Given the description of an element on the screen output the (x, y) to click on. 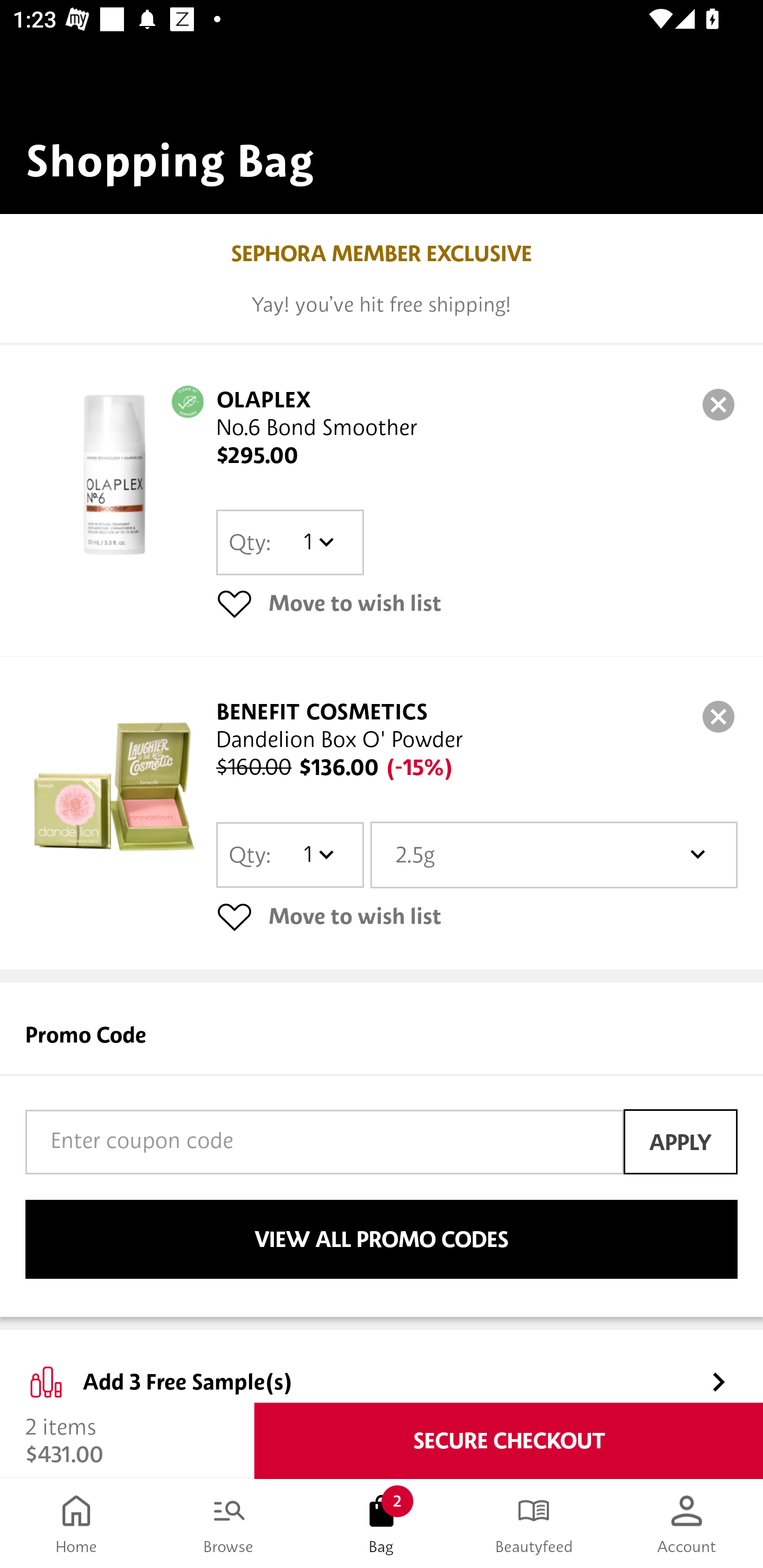
1 (317, 542)
Move to wish list (476, 602)
2.5g (553, 854)
1 (317, 854)
Move to wish list (476, 916)
APPLY (680, 1141)
Enter coupon code (324, 1142)
VIEW ALL PROMO CODES (381, 1239)
Add 3 Free Sample(s) (381, 1366)
SECURE CHECKOUT (508, 1440)
Home (76, 1523)
Browse (228, 1523)
Beautyfeed (533, 1523)
Account (686, 1523)
